Given the description of an element on the screen output the (x, y) to click on. 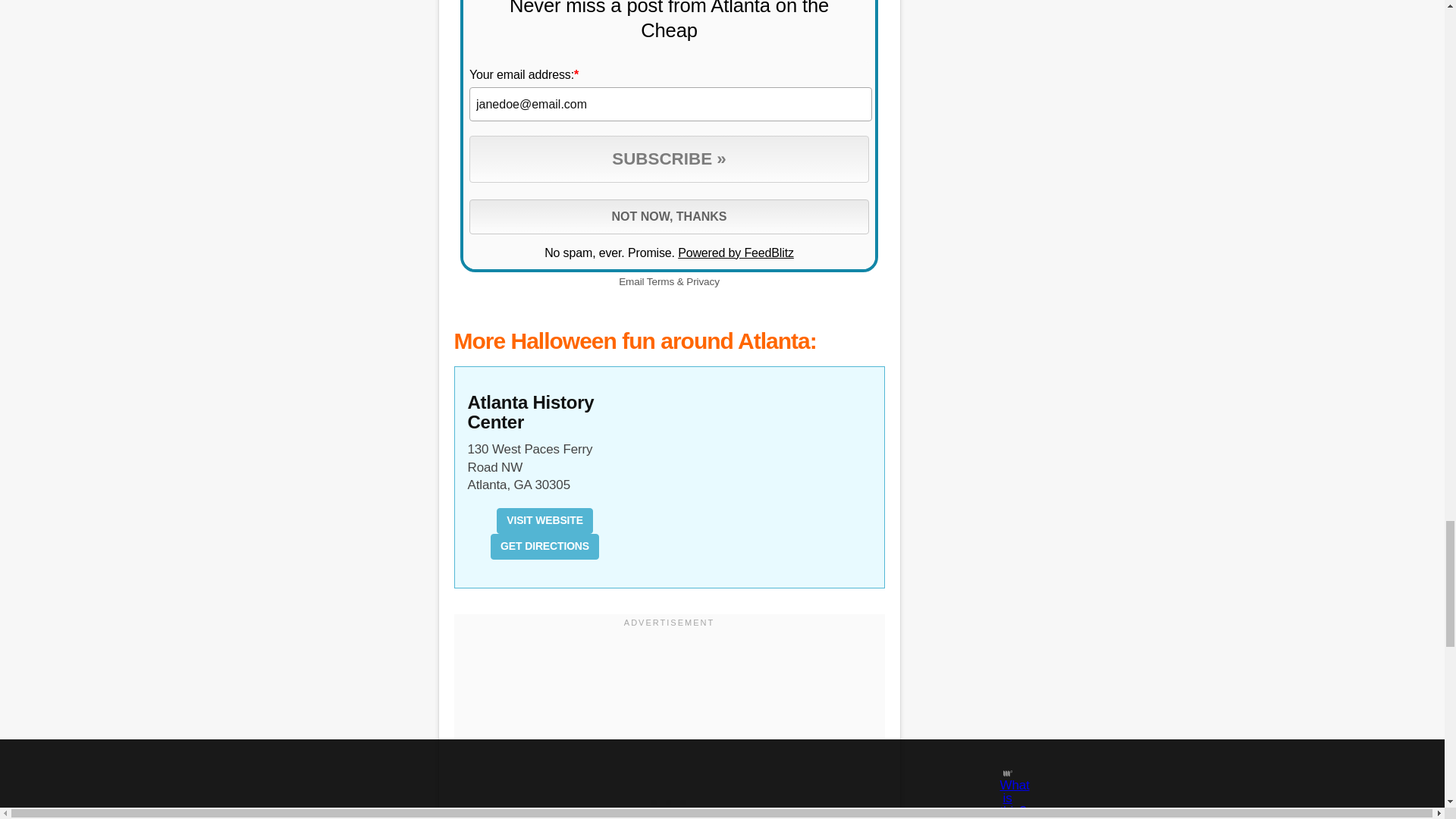
Not now, thanks (668, 216)
